Given the description of an element on the screen output the (x, y) to click on. 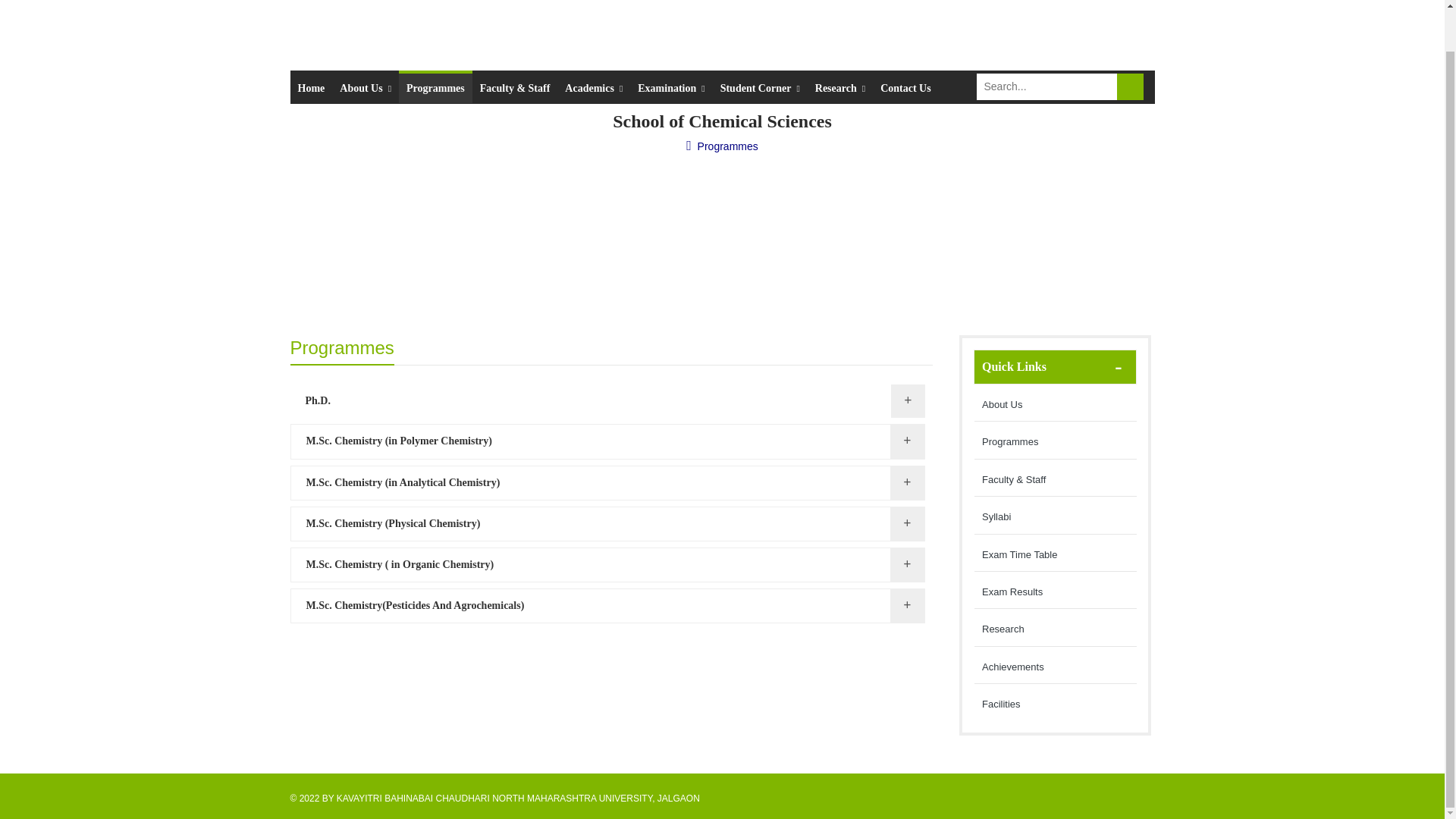
Research (840, 87)
Search (1129, 86)
Examination (670, 87)
Student Corner (760, 87)
Home (310, 86)
Academics (593, 87)
Contact Us (905, 86)
Programmes (434, 86)
About Us (364, 87)
